Given the description of an element on the screen output the (x, y) to click on. 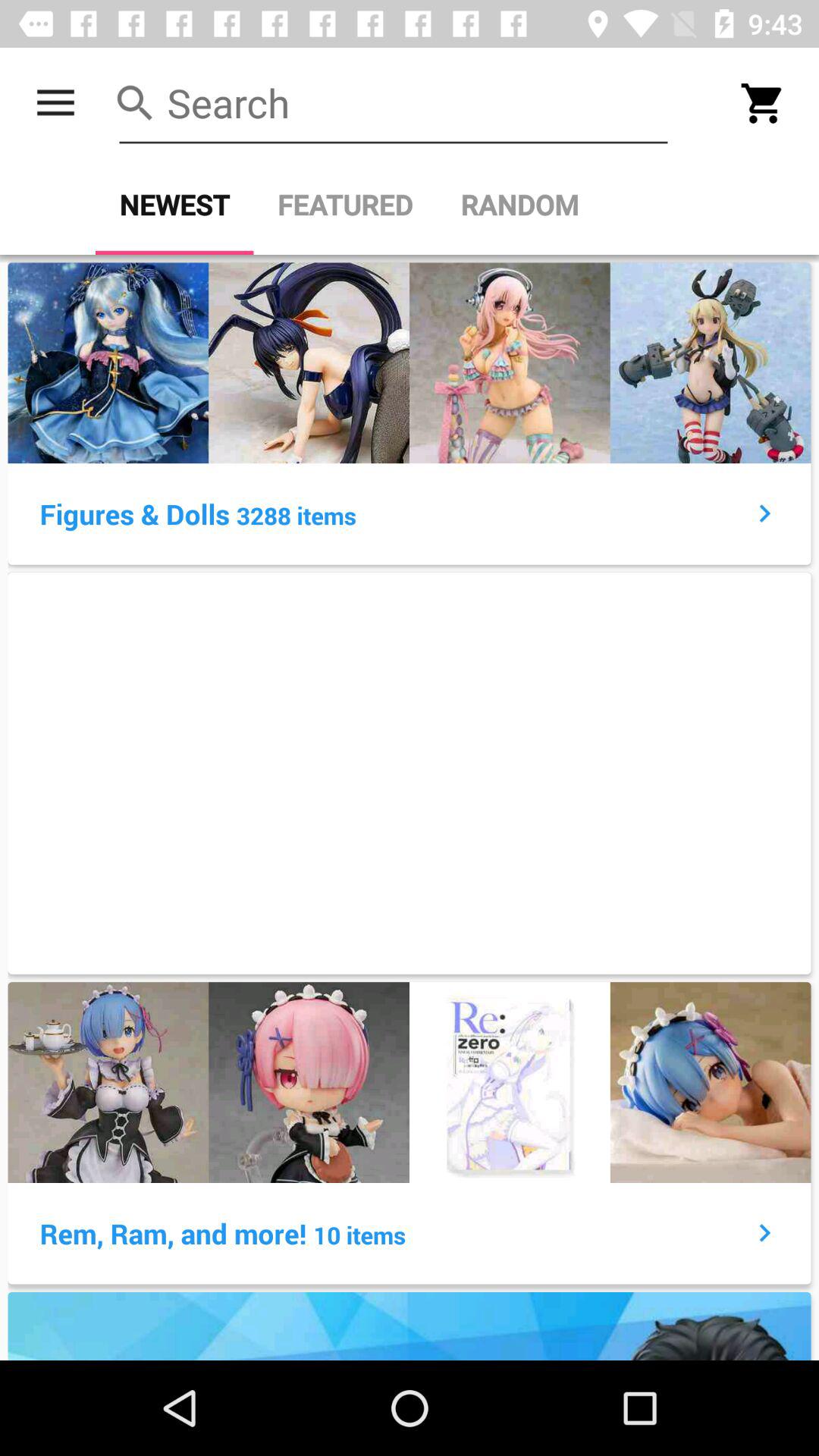
choose item to the right of the featured icon (519, 204)
